Given the description of an element on the screen output the (x, y) to click on. 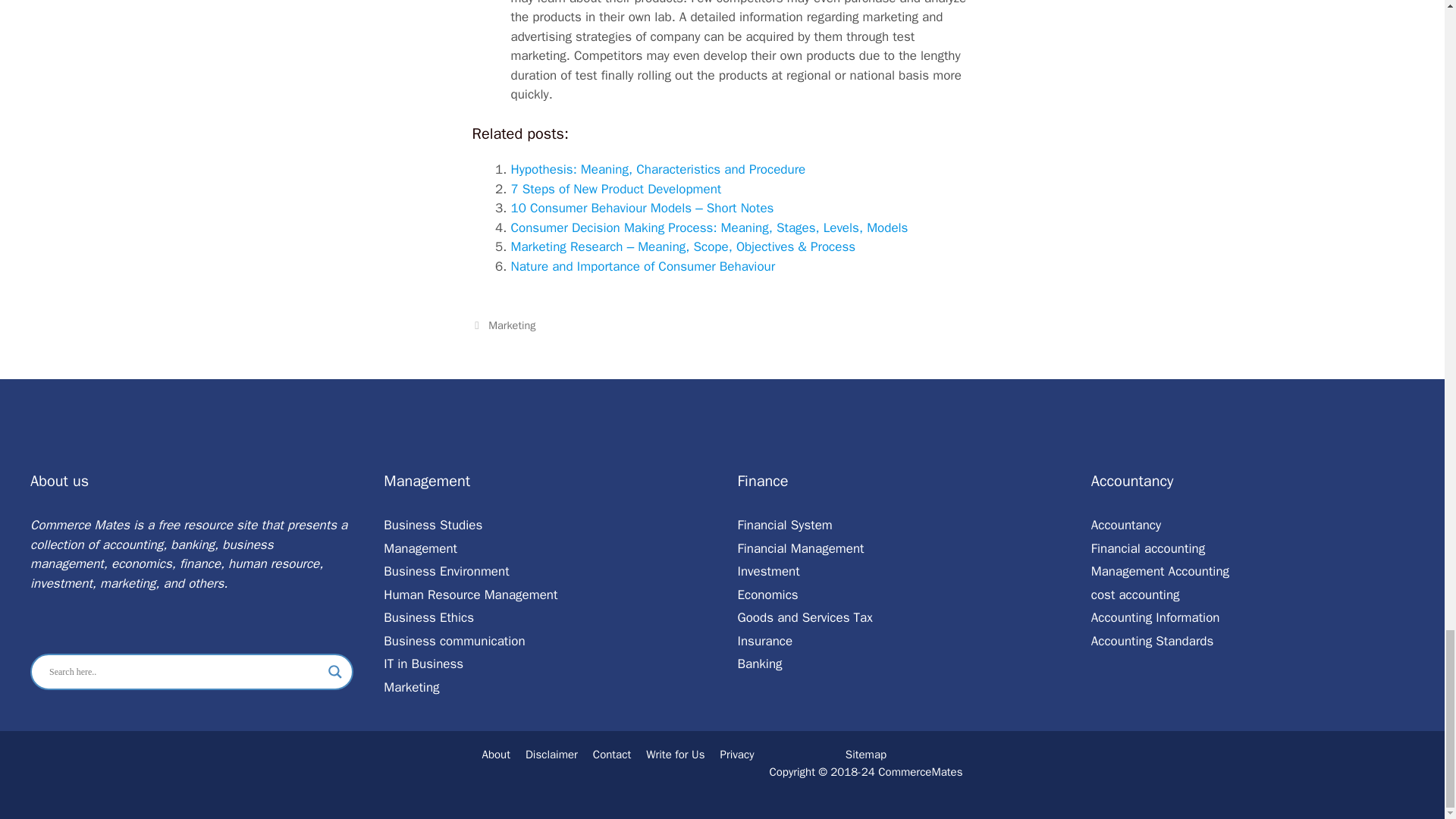
DMCA.com Protection Status (722, 794)
Nature and Importance of Consumer Behaviour (643, 266)
Hypothesis: Meaning, Characteristics and Procedure (658, 169)
7 Steps of New Product Development (616, 188)
